Given the description of an element on the screen output the (x, y) to click on. 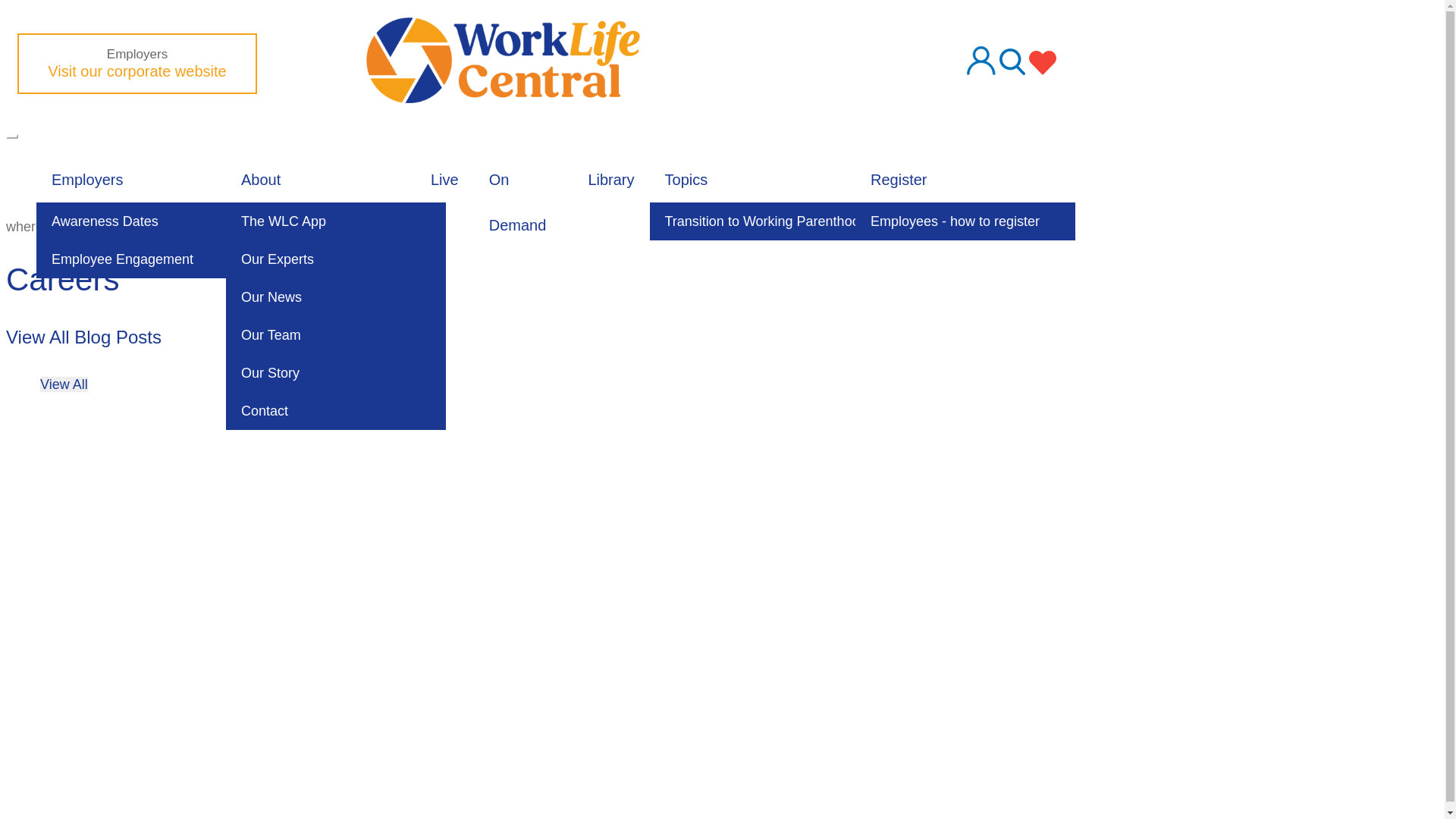
Live (444, 179)
blog (161, 226)
View All (63, 384)
Transition to Working Parenthood (767, 221)
Topics (686, 179)
Employers (87, 179)
careers (215, 226)
Library (610, 179)
Our Story (335, 372)
Employees - how to register (965, 221)
